Given the description of an element on the screen output the (x, y) to click on. 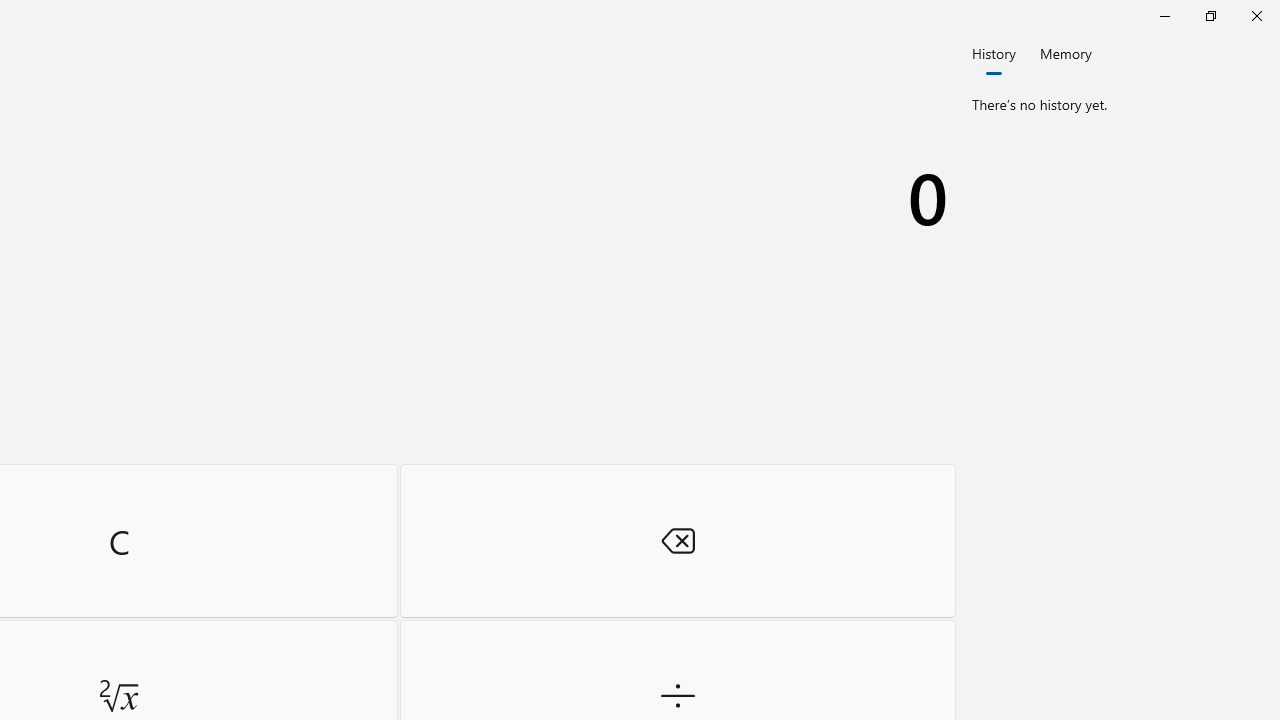
Minimize Calculator (1164, 15)
Close Calculator (1256, 15)
Backspace (677, 540)
Restore Calculator (1210, 15)
